Given the description of an element on the screen output the (x, y) to click on. 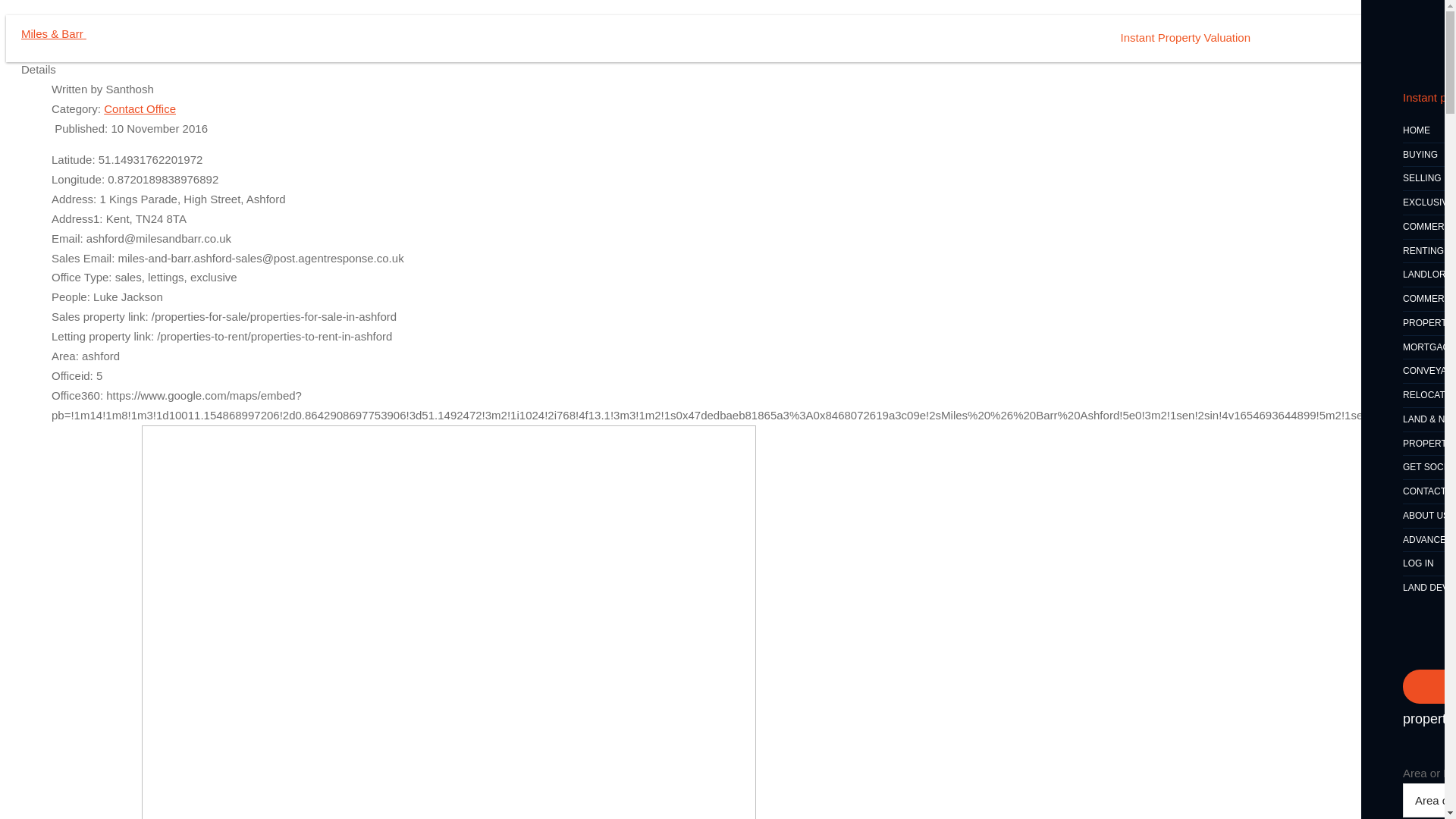
details section (825, 765)
Show details (902, 789)
our 885 partners (388, 614)
